Given the description of an element on the screen output the (x, y) to click on. 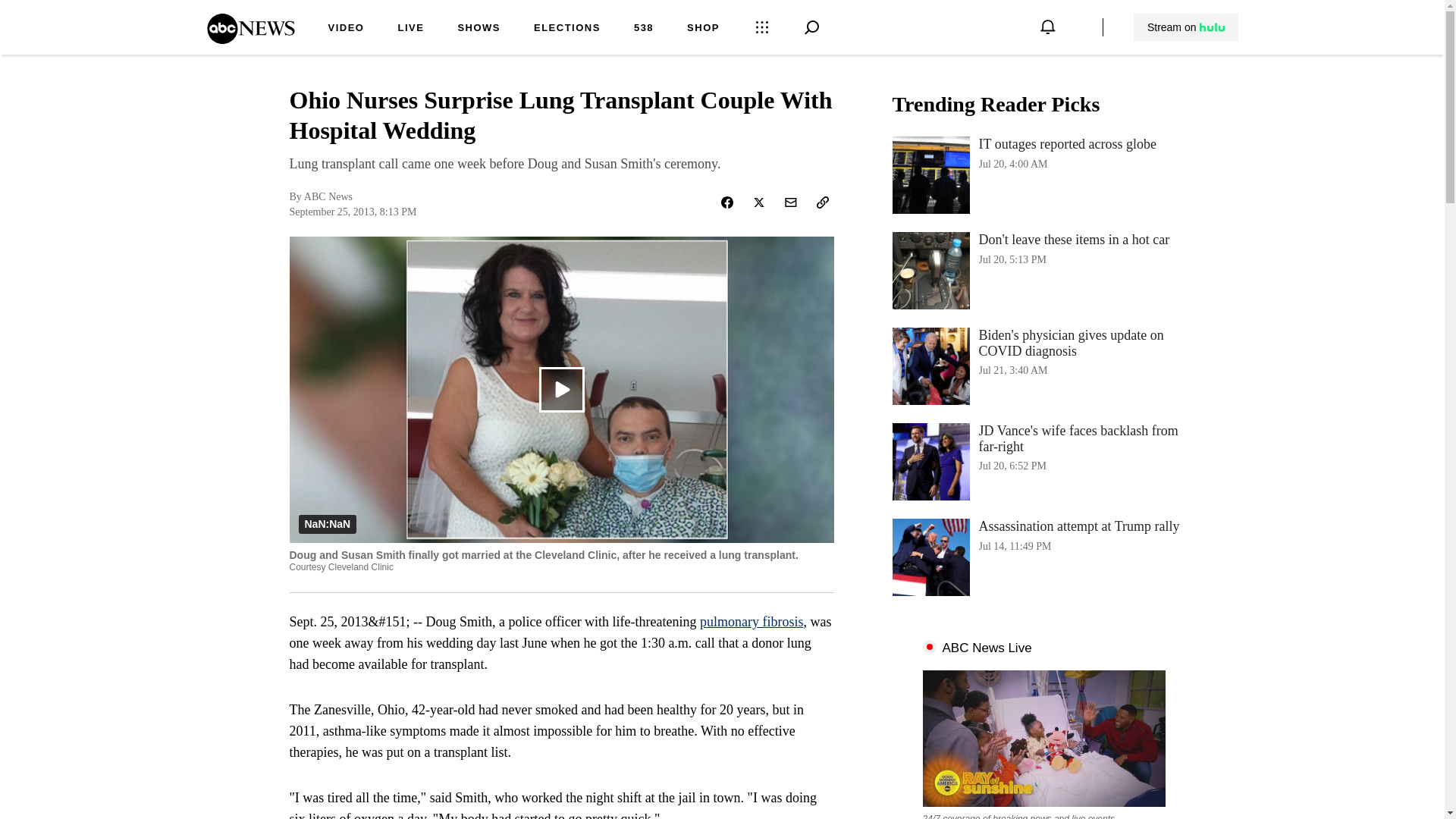
VIDEO (345, 28)
Stream on (1186, 26)
SHOP (1043, 270)
ABC News (703, 28)
SHOWS (250, 38)
pulmonary fibrosis (1043, 557)
Stream on (478, 28)
ELECTIONS (751, 621)
538 (1185, 27)
LIVE (566, 28)
